Given the description of an element on the screen output the (x, y) to click on. 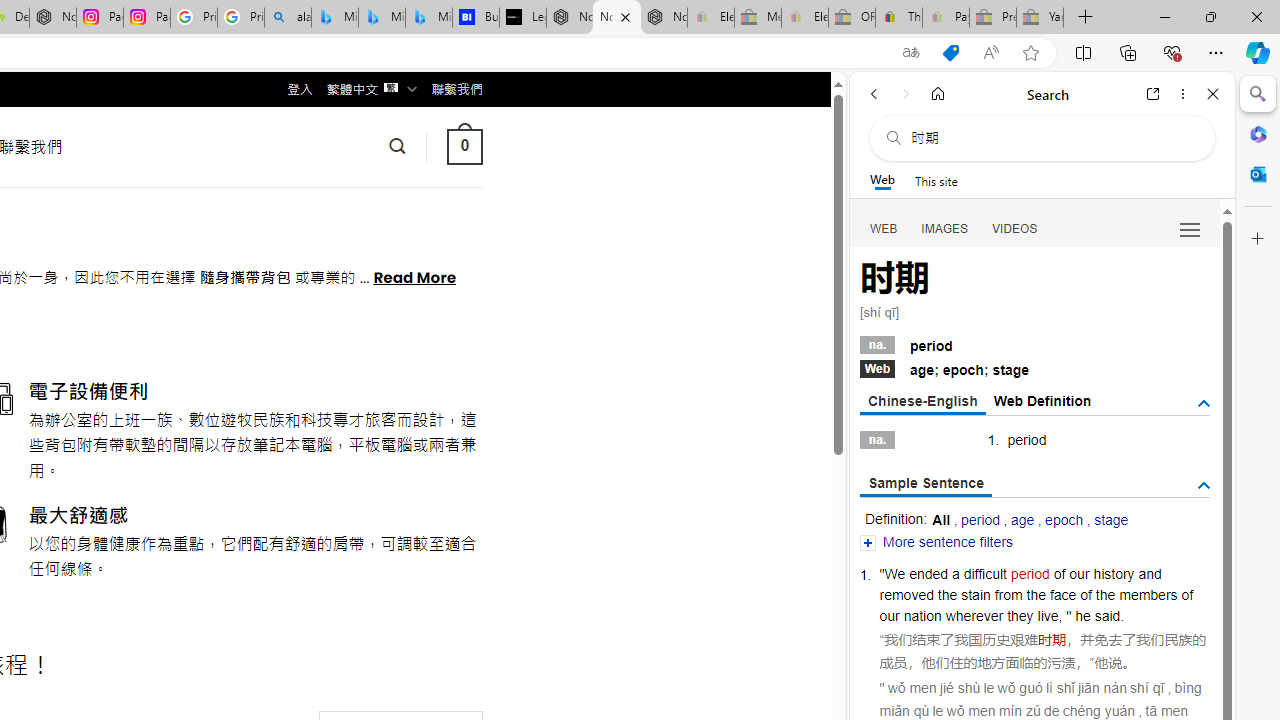
Home (938, 93)
age (1022, 520)
IMAGES (944, 228)
 0  (464, 146)
he (1082, 615)
More options (1182, 93)
they (1020, 615)
epoch (1064, 520)
nation (922, 615)
Chinese-English (922, 402)
